Given the description of an element on the screen output the (x, y) to click on. 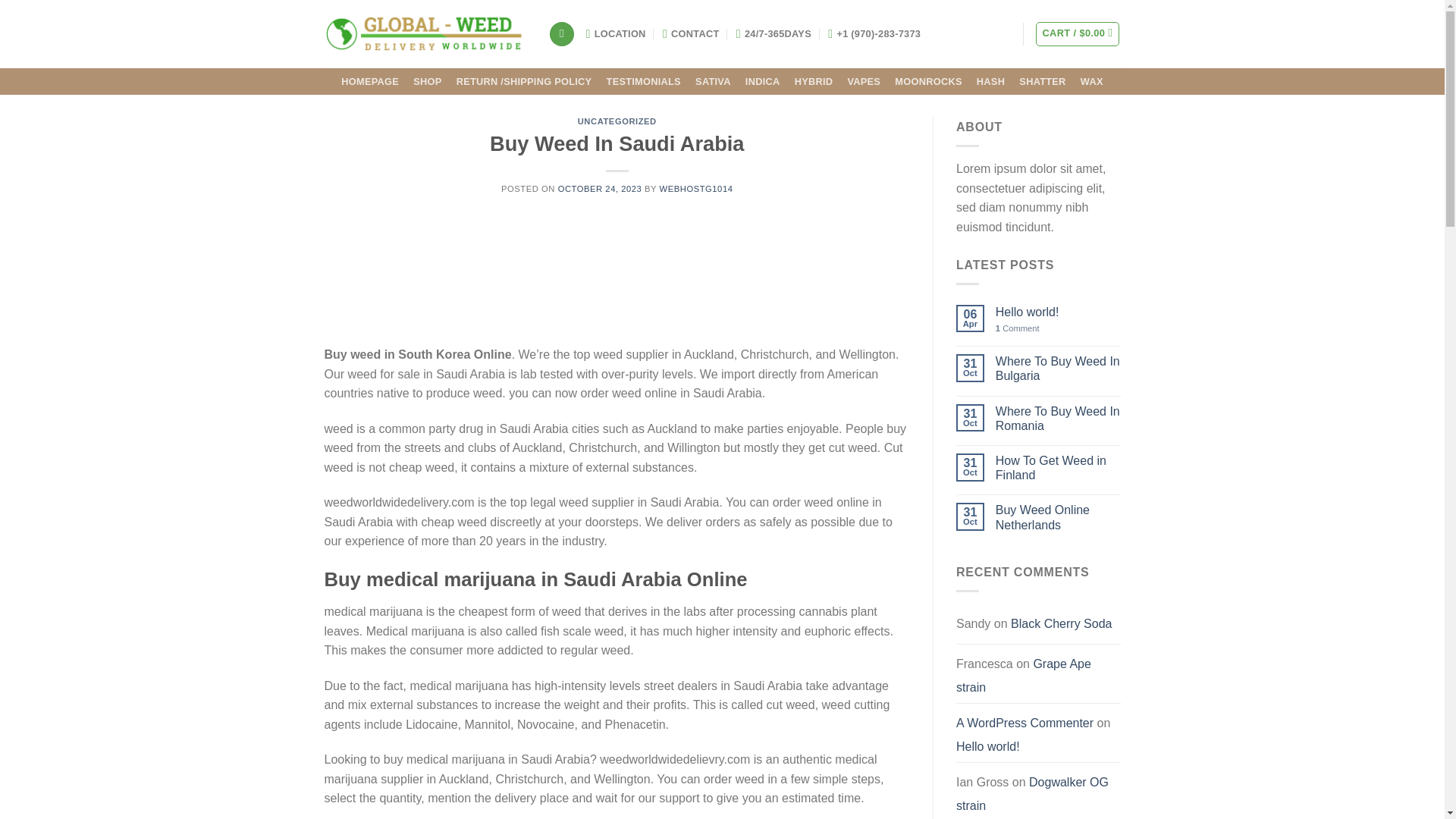
OCTOBER 24, 2023 (599, 188)
INDICA (762, 81)
LOCATION (616, 33)
VAPES (864, 81)
CONTACT (690, 33)
HASH (990, 81)
HYBRID (813, 81)
Los Angeles, CA (616, 33)
TESTIMONIALS (643, 81)
SHOP (427, 81)
HOMEPAGE (370, 81)
SHATTER (1042, 81)
MOONROCKS (928, 81)
Legit online dispensary shipping worldwide (424, 33)
WEBHOSTG1014 (696, 188)
